Given the description of an element on the screen output the (x, y) to click on. 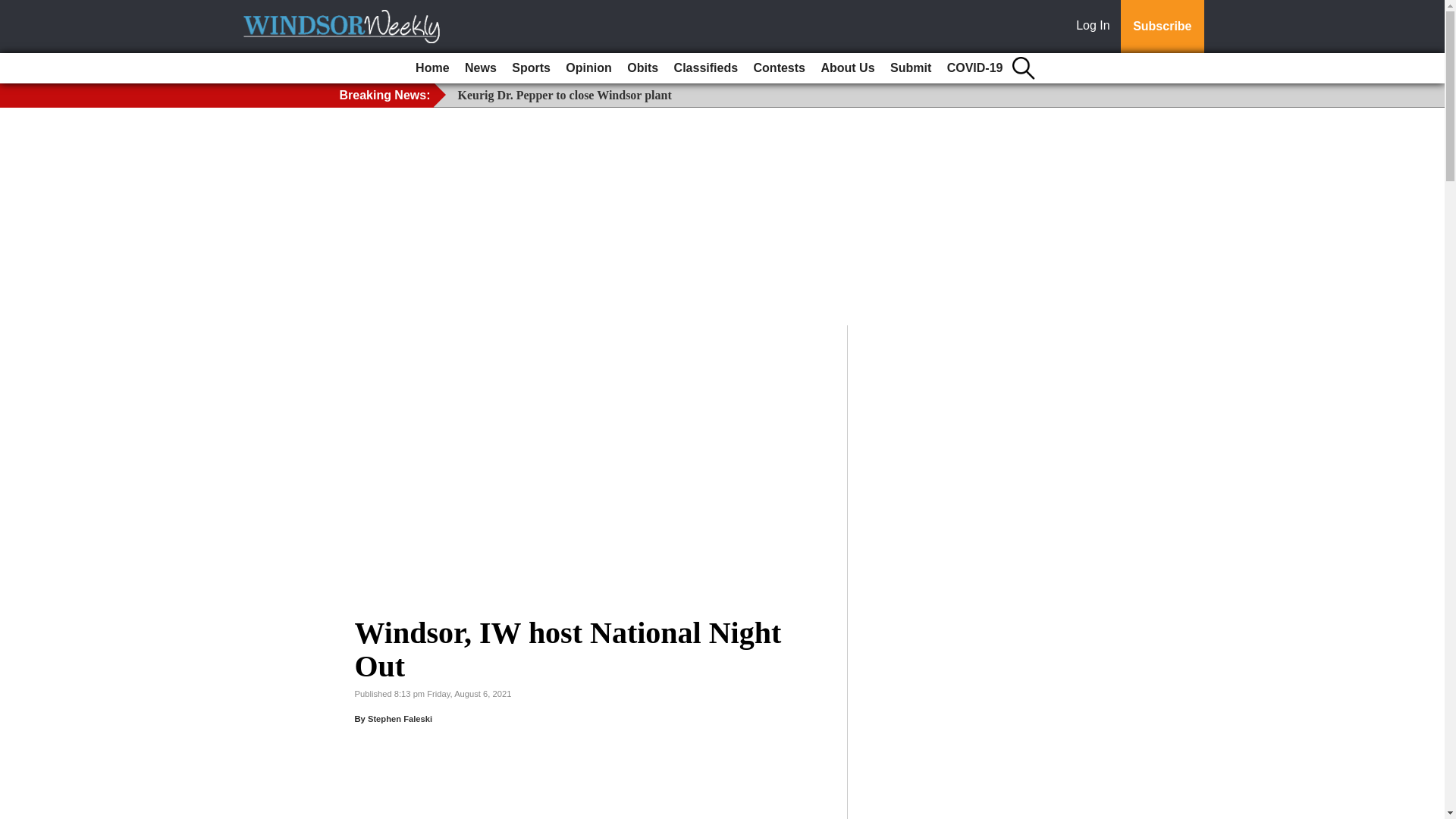
Stephen Faleski (400, 718)
COVID-19 (974, 68)
Obits (642, 68)
Contests (779, 68)
Submit (910, 68)
About Us (846, 68)
Keurig Dr. Pepper to close Windsor plant (564, 94)
Classifieds (706, 68)
Log In (1095, 26)
Home (431, 68)
Opinion (588, 68)
Subscribe (1162, 26)
News (480, 68)
Keurig Dr. Pepper to close Windsor plant (564, 94)
Go (13, 9)
